Given the description of an element on the screen output the (x, y) to click on. 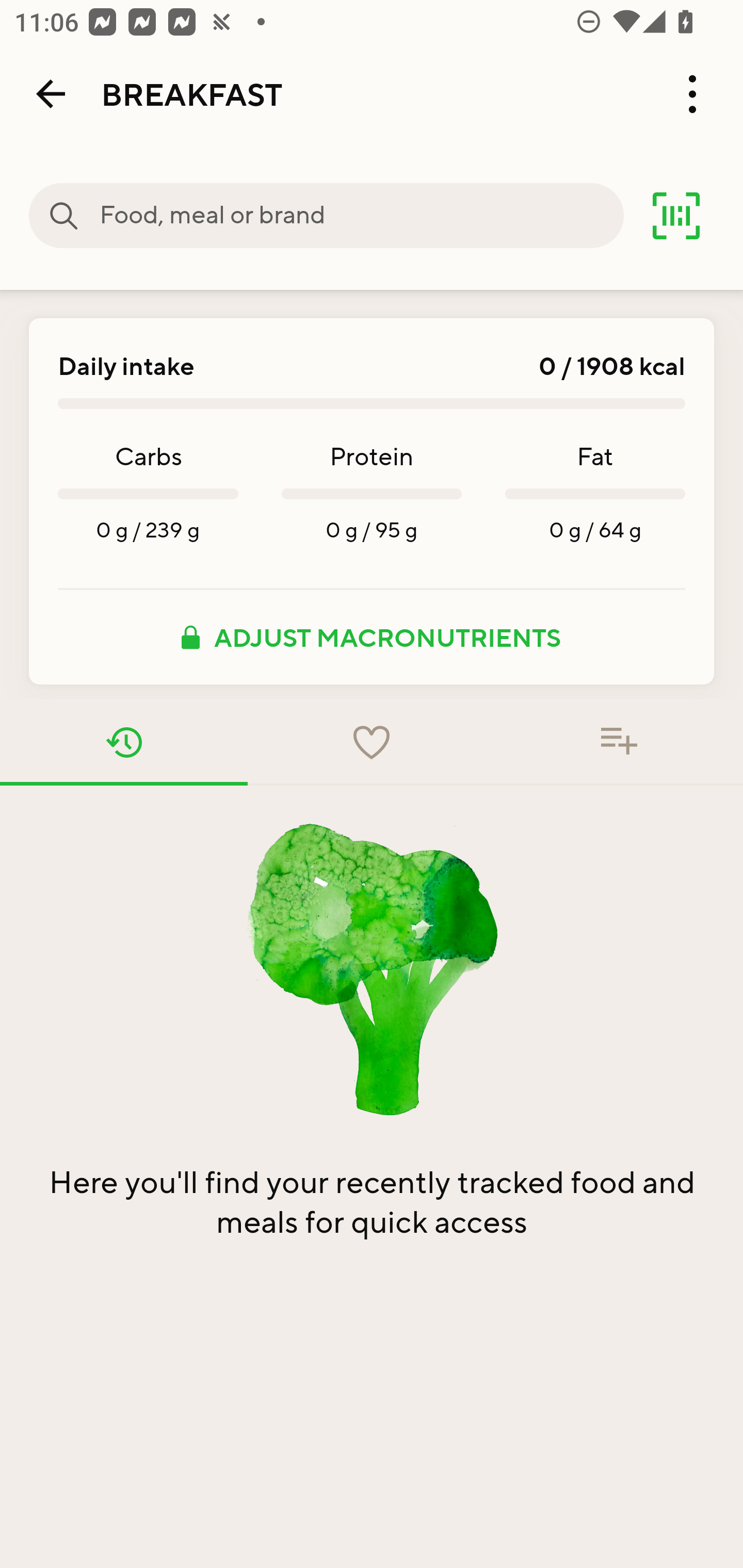
Back (50, 93)
Food, meal or brand (63, 215)
Food, meal or brand (361, 215)
ADJUST MACRONUTRIENTS (371, 637)
Favorites (371, 742)
Food added (619, 742)
